Given the description of an element on the screen output the (x, y) to click on. 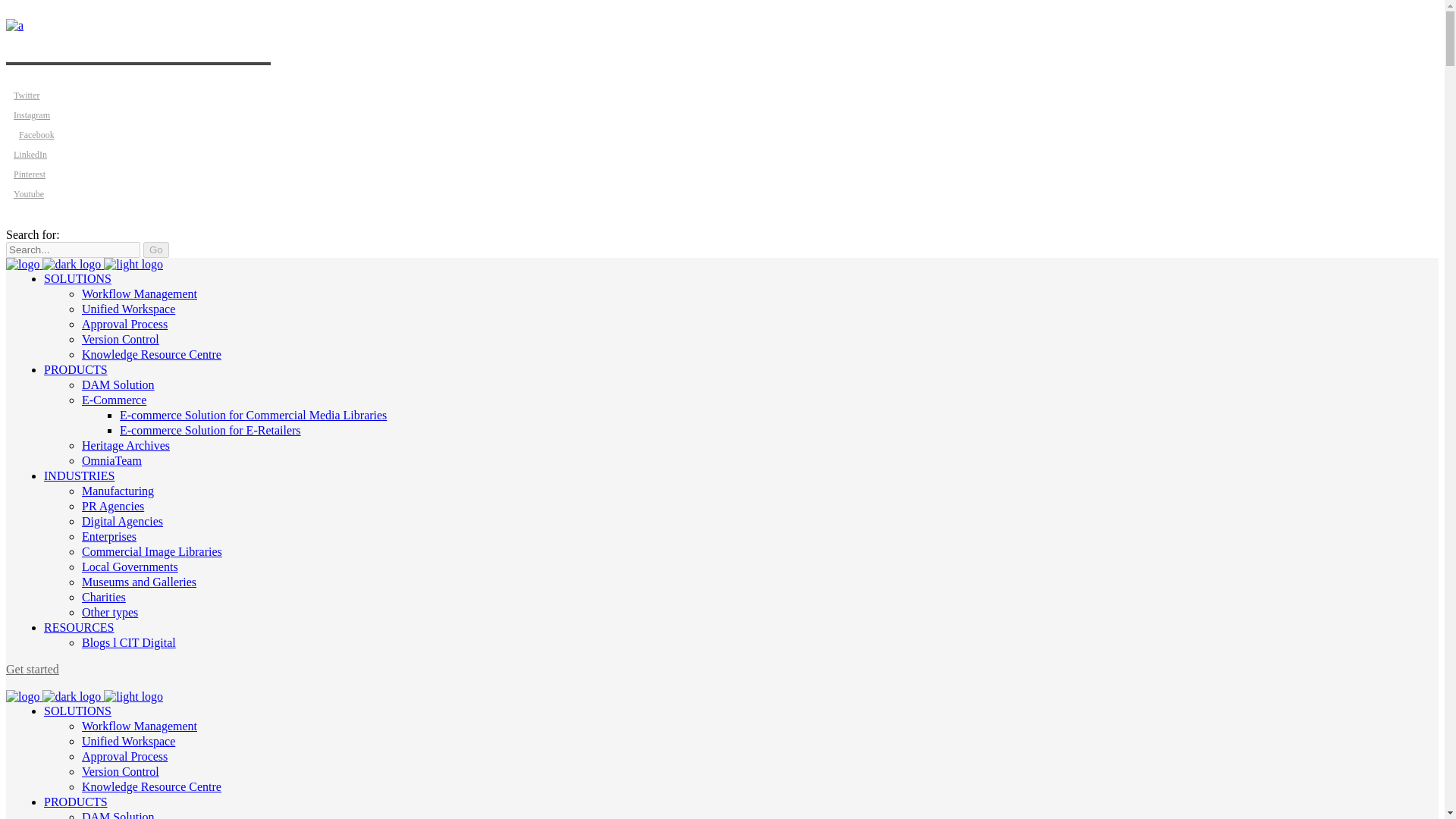
Unified Workspace (127, 308)
Enterprises (108, 535)
Version Control (119, 338)
Local Governments (129, 566)
Facebook (30, 133)
E-commerce Solution for E-Retailers (210, 430)
Search for: (72, 249)
Workflow Management (138, 293)
PR Agencies (112, 505)
DAM Solution (117, 384)
Charities (103, 596)
Go (155, 249)
Commercial Image Libraries (151, 551)
SOLUTIONS (77, 278)
E-Commerce (114, 399)
